Given the description of an element on the screen output the (x, y) to click on. 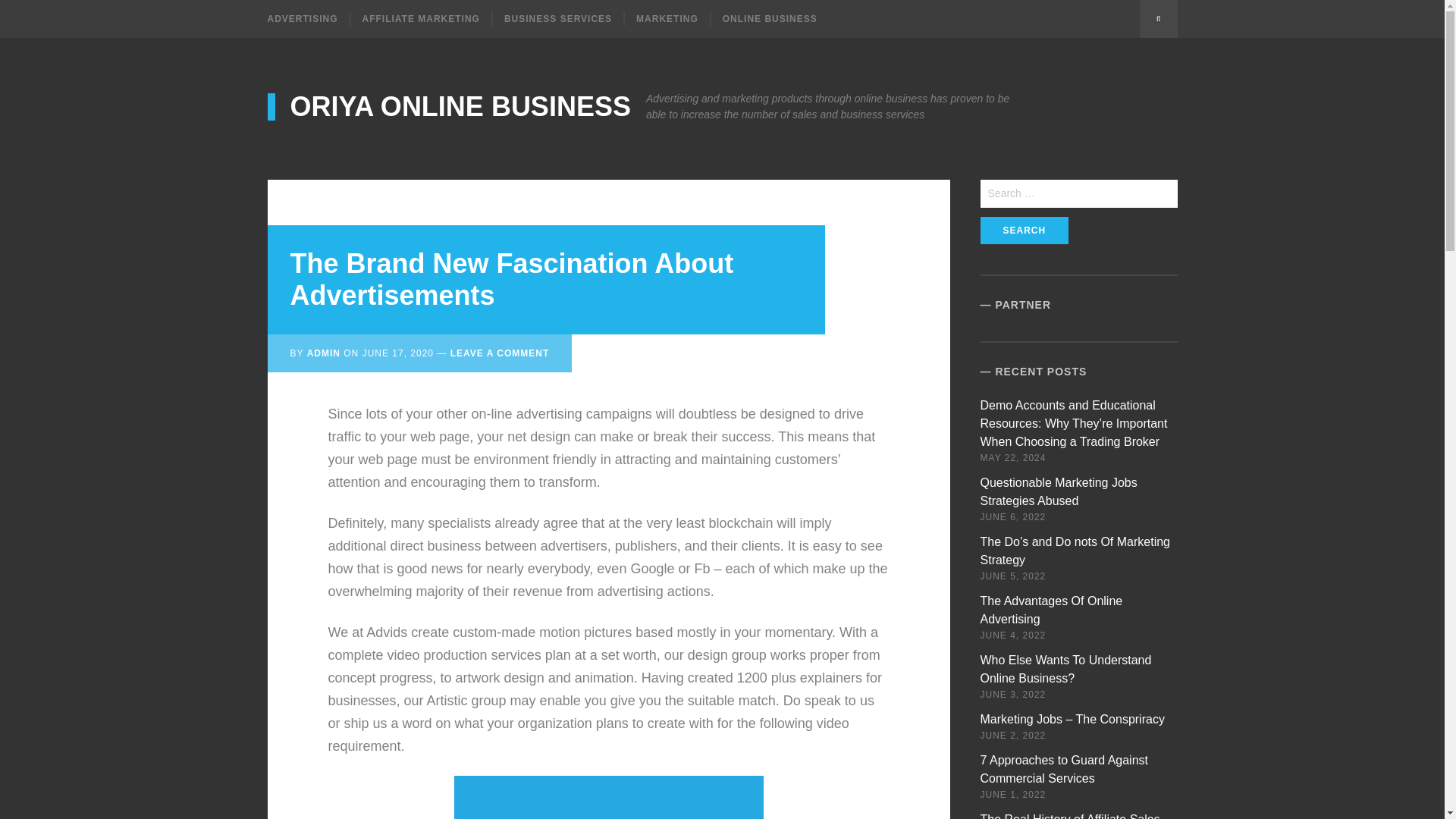
Search (1157, 18)
LEAVE A COMMENT (499, 353)
The Real History of Affiliate Sales Refuted (1069, 816)
ADMIN (323, 353)
Search (1023, 230)
Search (1023, 230)
MARKETING (666, 18)
Search (1023, 230)
ADVERTISING (307, 18)
BUSINESS SERVICES (557, 18)
Who Else Wants To Understand Online Business? (1065, 668)
AFFILIATE MARKETING (420, 18)
ORIYA ONLINE BUSINESS (448, 106)
7 Approaches to Guard Against Commercial Services (1063, 768)
The Advantages Of Online Advertising (1050, 609)
